Given the description of an element on the screen output the (x, y) to click on. 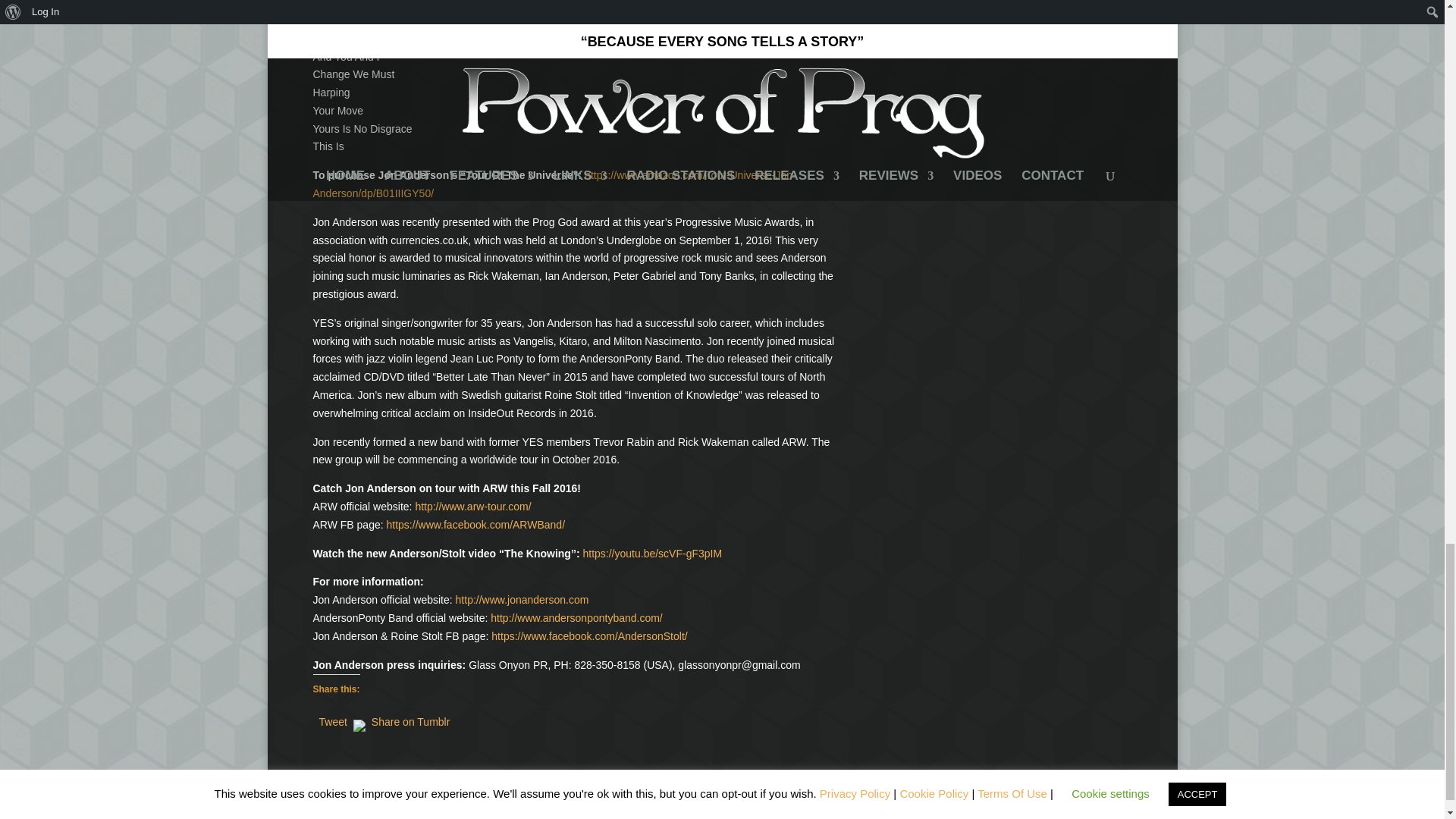
Share on Tumblr (410, 718)
